Given the description of an element on the screen output the (x, y) to click on. 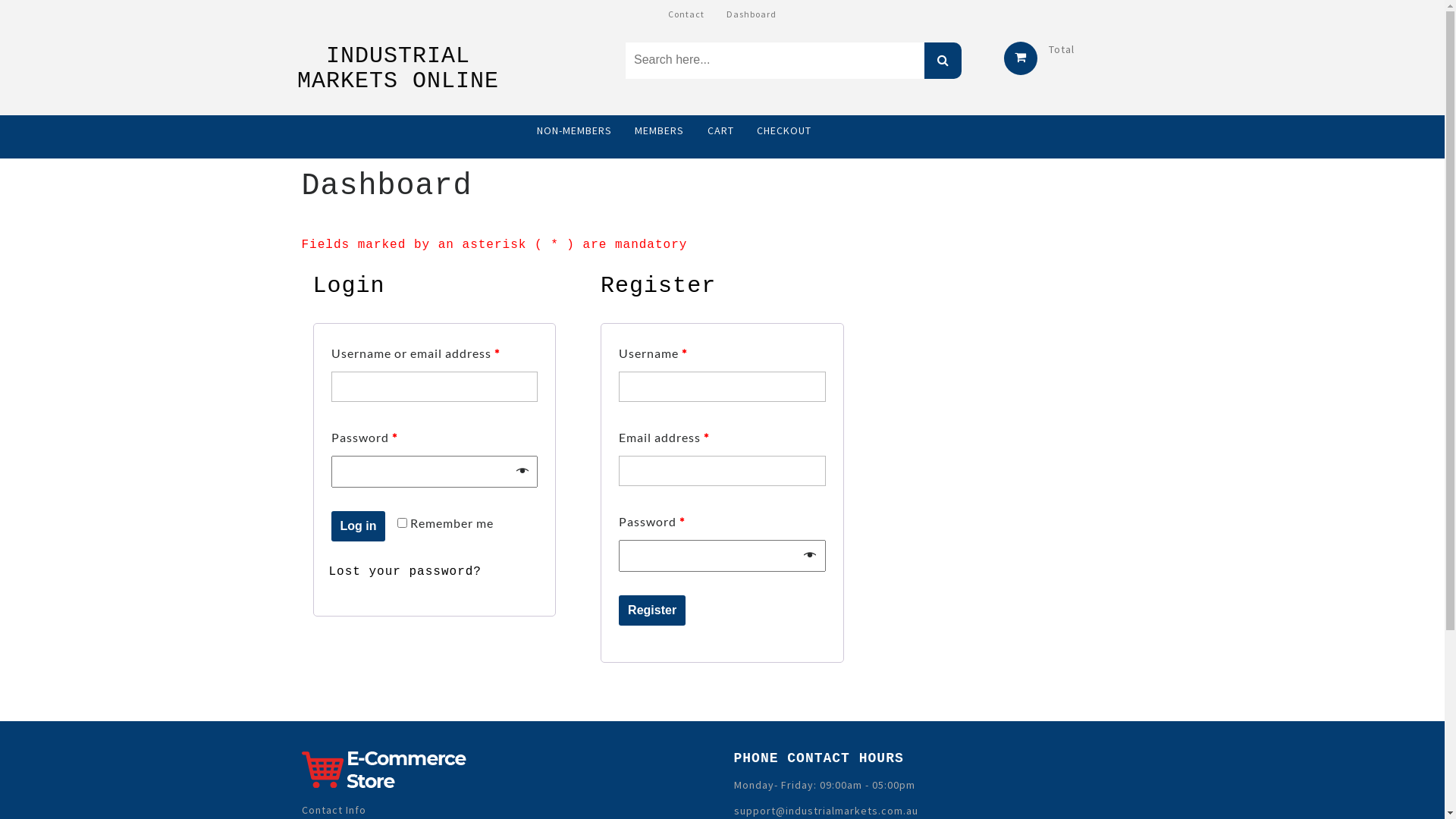
Log in Element type: text (357, 526)
Search for: Element type: hover (774, 60)
Contact Element type: text (686, 14)
INDUSTRIAL MARKETS ONLINE Element type: text (397, 68)
CHECKOUT Element type: text (784, 130)
NON-MEMBERS Element type: text (574, 130)
Register Element type: text (651, 610)
CART Element type: text (720, 130)
Dashboard Element type: text (751, 14)
MEMBERS Element type: text (659, 130)
Lost your password? Element type: text (405, 571)
